Given the description of an element on the screen output the (x, y) to click on. 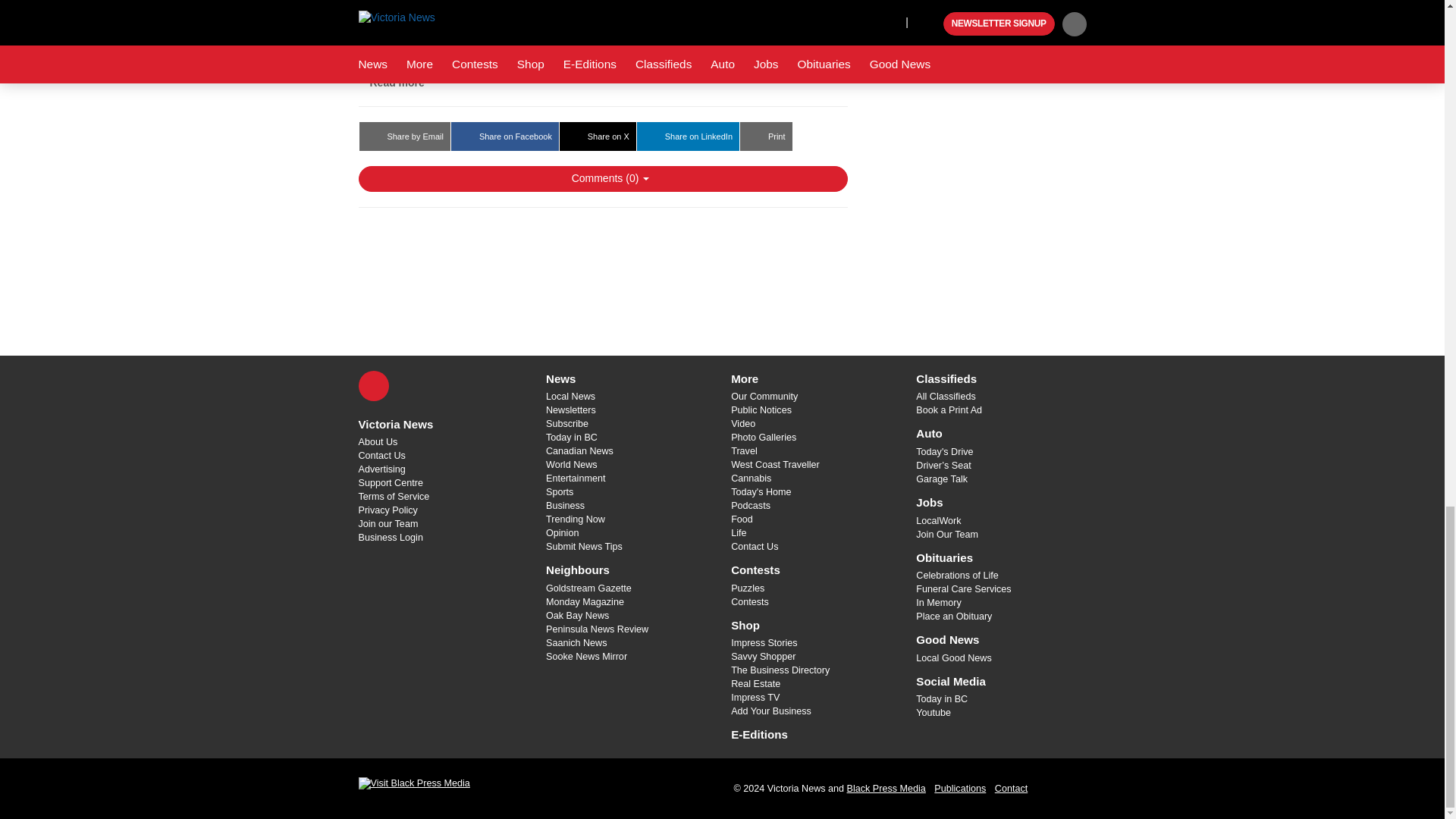
X (373, 386)
Show Comments (602, 178)
